Given the description of an element on the screen output the (x, y) to click on. 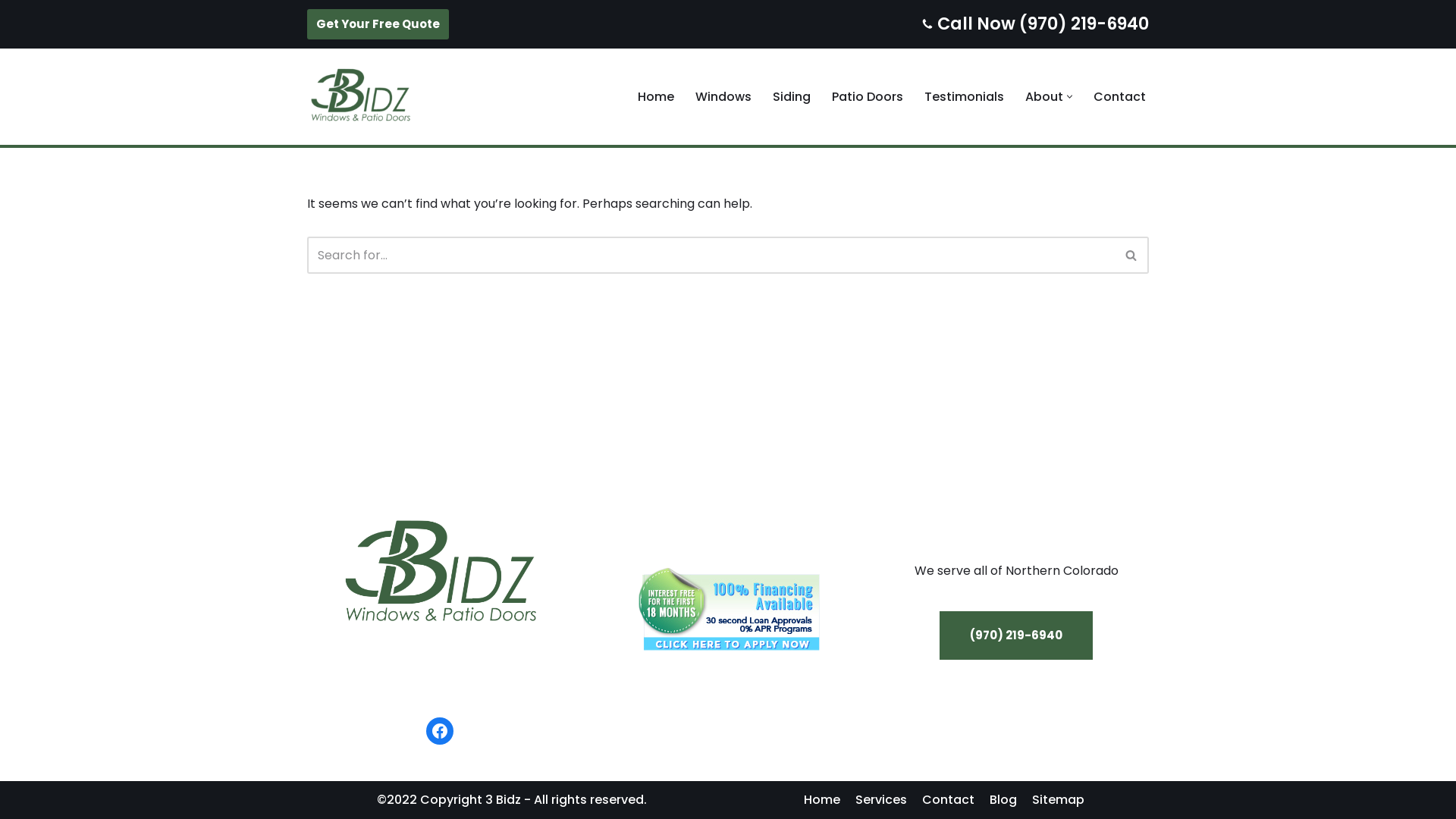
3Bidz Element type: hover (360, 96)
Siding Element type: text (791, 96)
Home Element type: text (655, 96)
Skip to content Element type: text (11, 31)
Blog Element type: text (1002, 799)
Call Now (970) 219-6940 Element type: text (1042, 23)
Get Your Free Quote Element type: text (377, 24)
(970) 219-6940 Element type: text (1015, 635)
Home Element type: text (821, 799)
About Element type: text (1044, 96)
Contact Element type: text (948, 799)
Patio Doors Element type: text (867, 96)
Sitemap Element type: text (1058, 799)
Contact Element type: text (1119, 96)
Services Element type: text (880, 799)
Testimonials Element type: text (964, 96)
Windows Element type: text (723, 96)
